Given the description of an element on the screen output the (x, y) to click on. 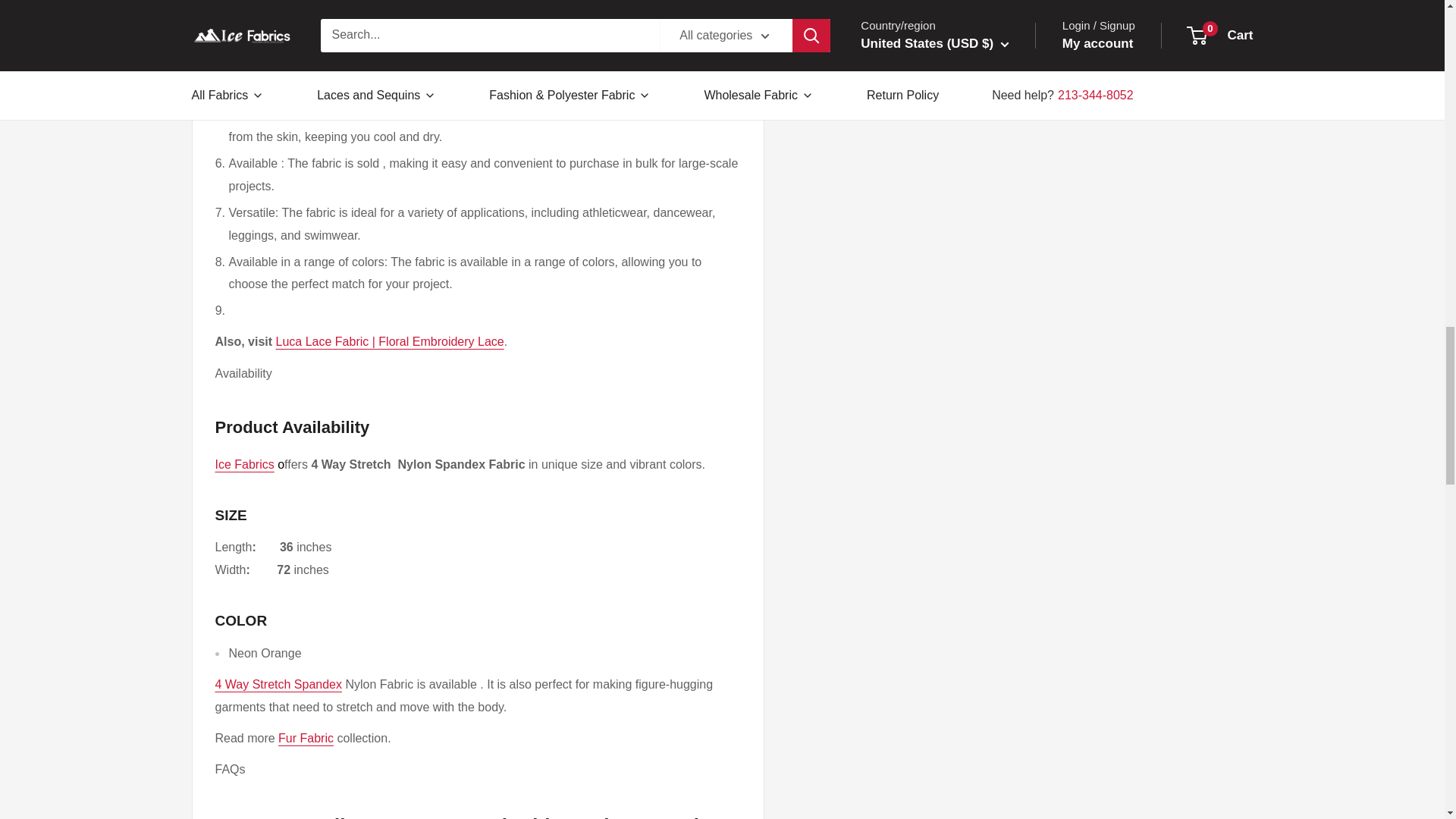
IceFabrics.com (245, 463)
4 Way Stretch Fabric - Ice Fabrics (278, 684)
Faux Fur Fabric - IceFabrics (305, 738)
